Given the description of an element on the screen output the (x, y) to click on. 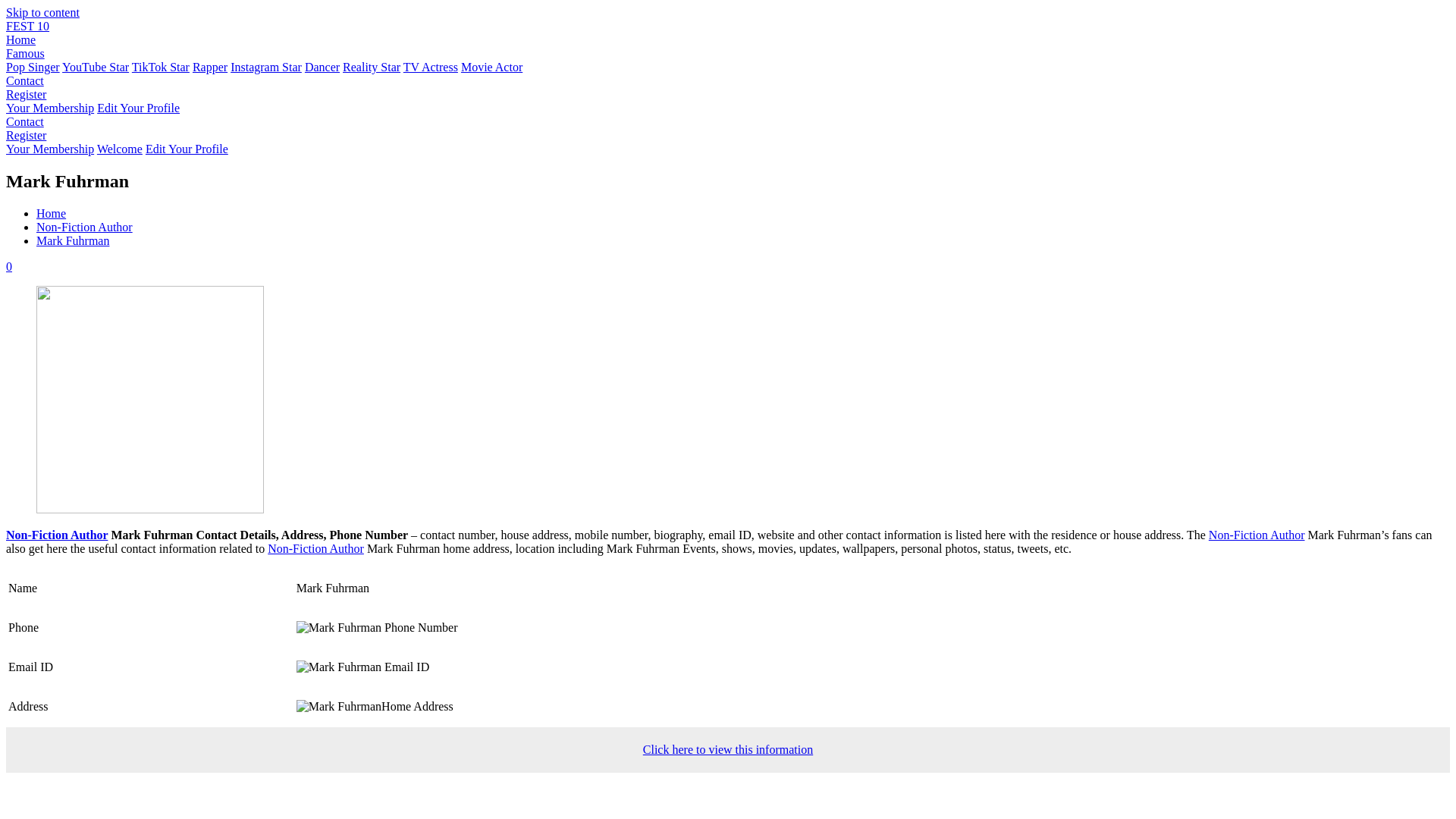
Non-Fiction Author (56, 534)
Your Membership (49, 107)
Non-Fiction Author (315, 548)
Non-Fiction Author (84, 226)
Non-Fiction Author (1256, 534)
Welcome (119, 148)
Contact (24, 80)
TikTok Star (160, 66)
Rapper (209, 66)
FEST 10 (27, 25)
